Given the description of an element on the screen output the (x, y) to click on. 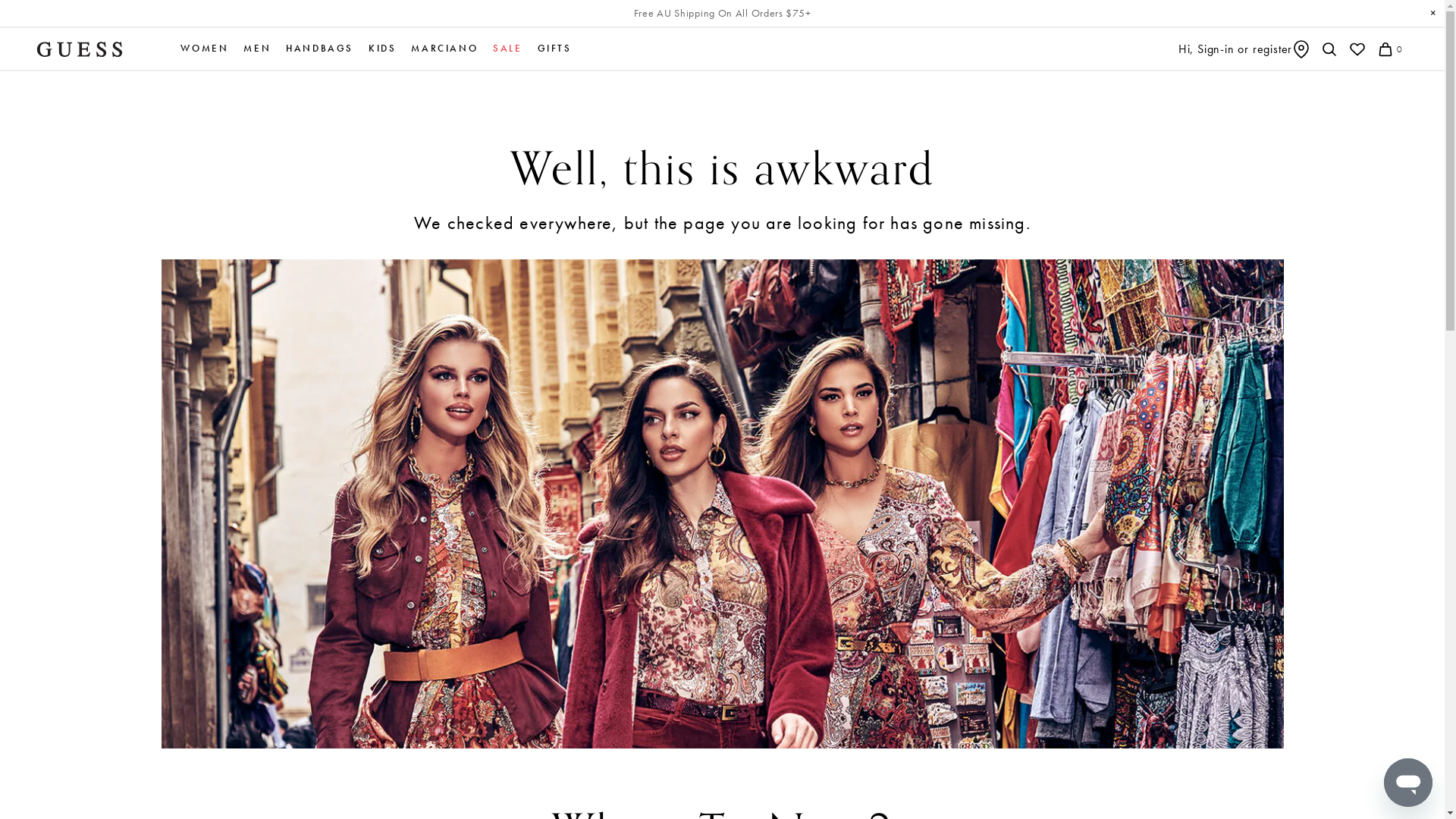
0 Element type: text (1389, 49)
Free AU Shipping On All Orders $75+ Element type: text (722, 13)
Sign-in or register Element type: text (1244, 48)
Button to launch messaging window Element type: hover (1407, 782)
MARCIANO Element type: text (444, 48)
MEN Element type: text (256, 48)
GIFTS Element type: text (554, 48)
WOMEN Element type: text (204, 48)
KIDS Element type: text (381, 48)
SALE Element type: text (506, 48)
HANDBAGS Element type: text (319, 48)
